Given the description of an element on the screen output the (x, y) to click on. 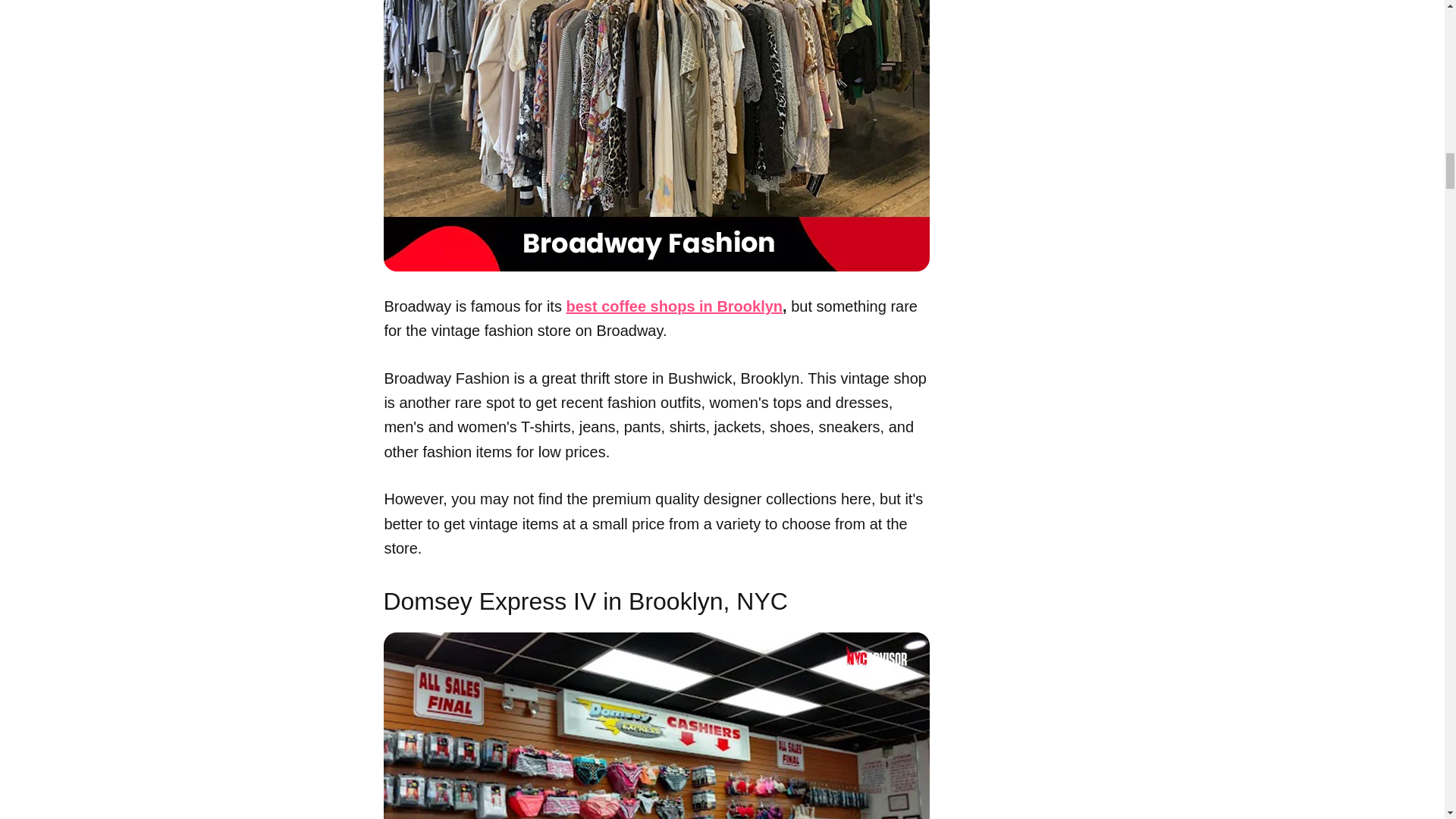
best coffee shops in Brooklyn (674, 306)
